Given the description of an element on the screen output the (x, y) to click on. 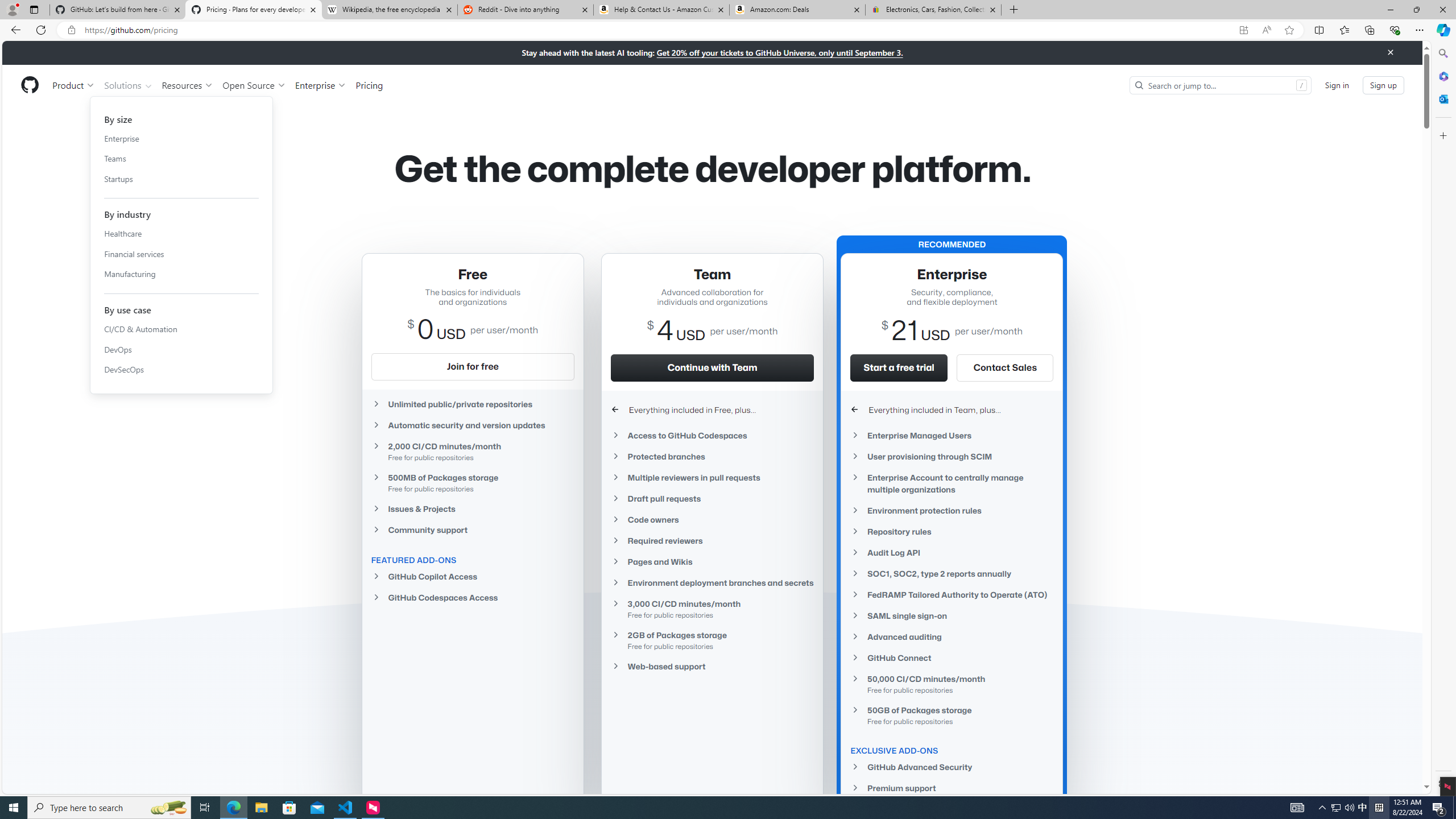
Sign up (1382, 84)
Unlimited public/private repositories (473, 404)
Code owners (711, 519)
Premium support (952, 788)
Pages and Wikis (711, 561)
Required reviewers (711, 540)
50GB of Packages storageFree for public repositories (952, 714)
Unlimited public/private repositories (473, 404)
Multiple reviewers in pull requests (711, 477)
Amazon.com: Deals (797, 9)
DevOps (181, 349)
